Given the description of an element on the screen output the (x, y) to click on. 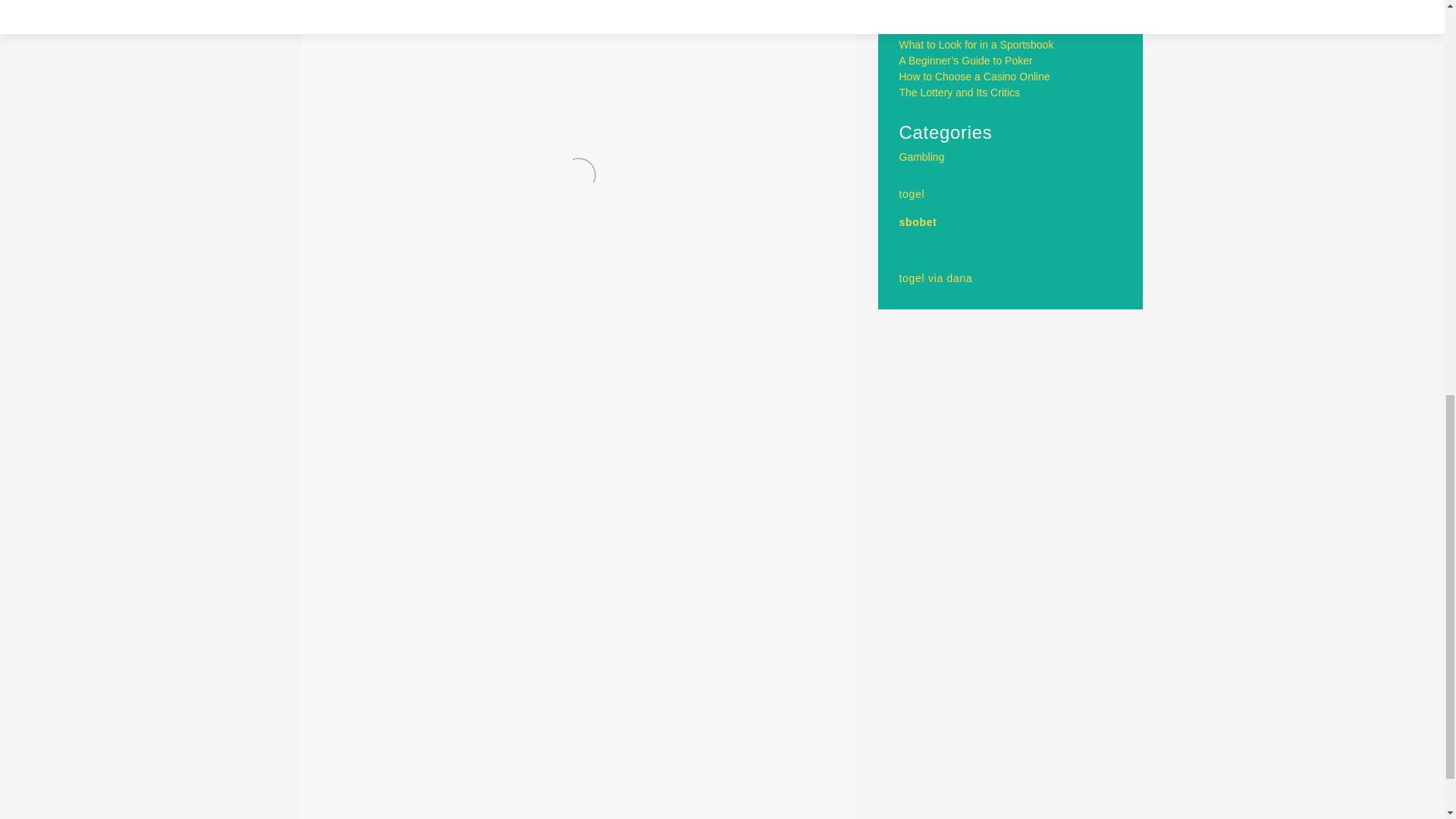
What Is a Slot? (935, 28)
Gambling (921, 156)
 SBOBet Review (381, 818)
How to Choose a Casino Online (974, 76)
sbobet (918, 222)
Gambling (403, 784)
The Lottery and Its Critics (959, 92)
togel (911, 193)
Types of Casino Online  (754, 818)
What to Look for in a Sportsbook (976, 44)
